Given the description of an element on the screen output the (x, y) to click on. 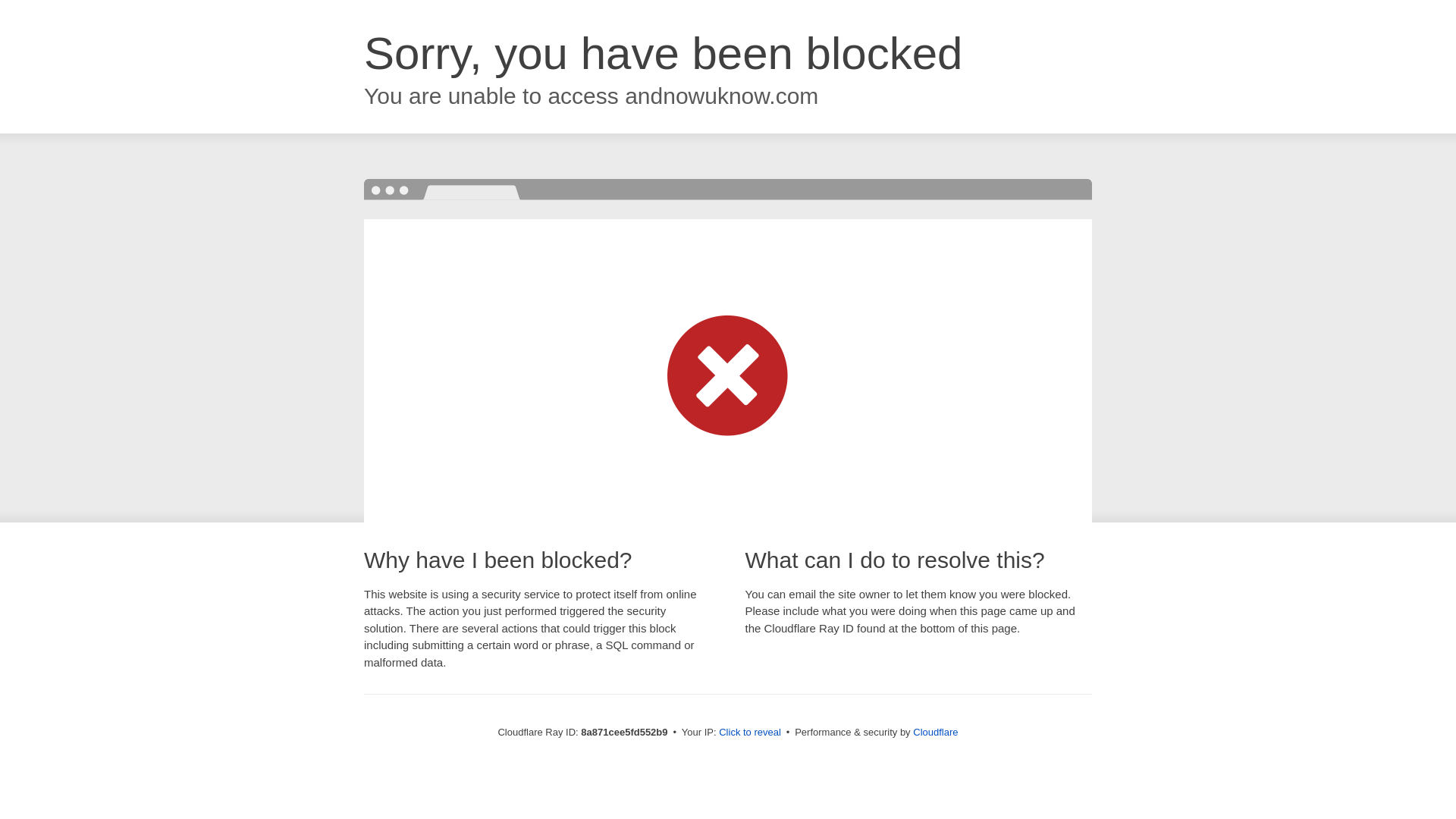
Click to reveal (749, 732)
Cloudflare (935, 731)
